Given the description of an element on the screen output the (x, y) to click on. 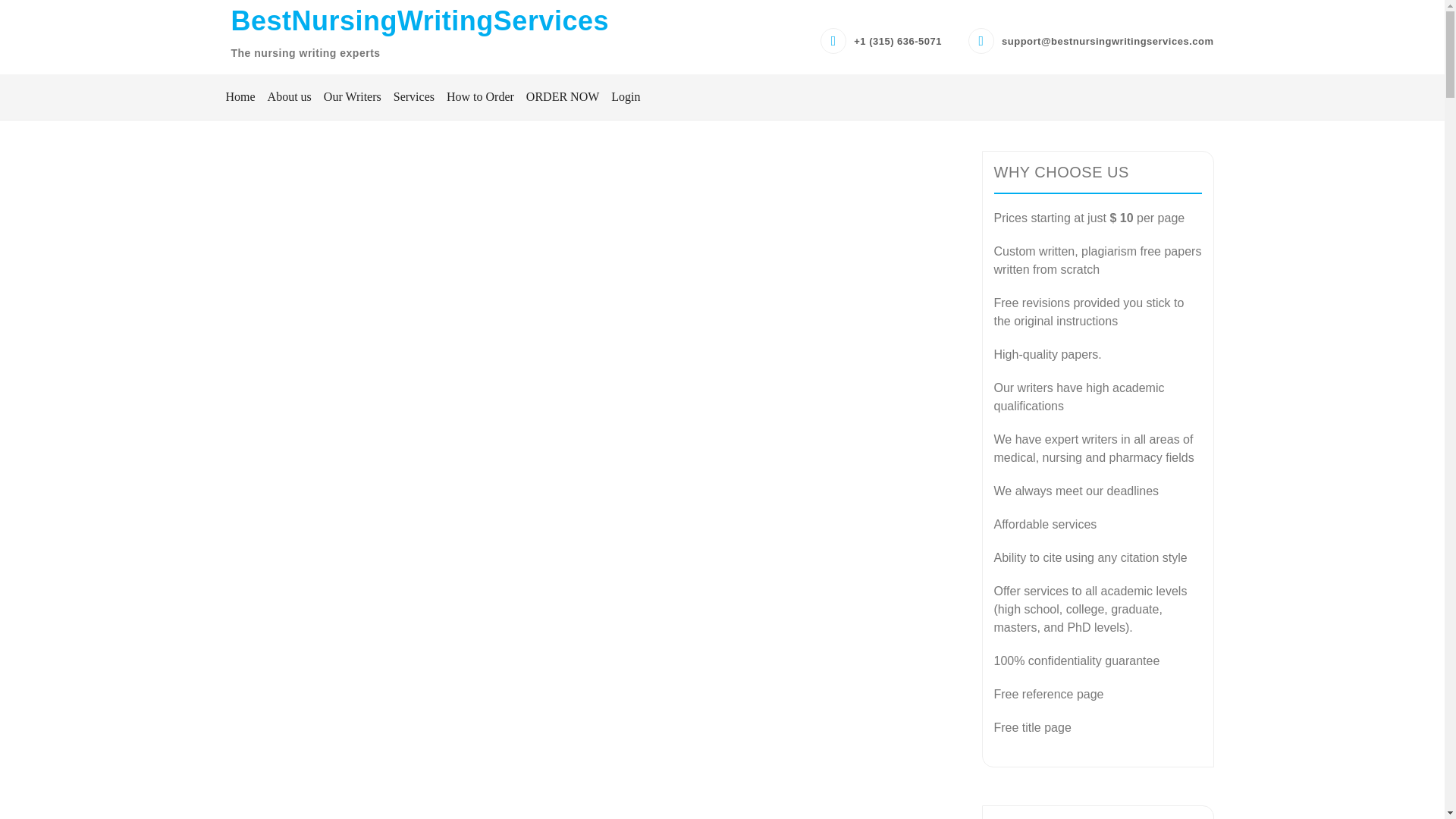
Login (622, 96)
ORDER NOW (562, 96)
BestNursingWritingServices (419, 20)
How to Order (480, 96)
Home (240, 96)
Services (414, 96)
About us (289, 96)
Our Writers (352, 96)
